Given the description of an element on the screen output the (x, y) to click on. 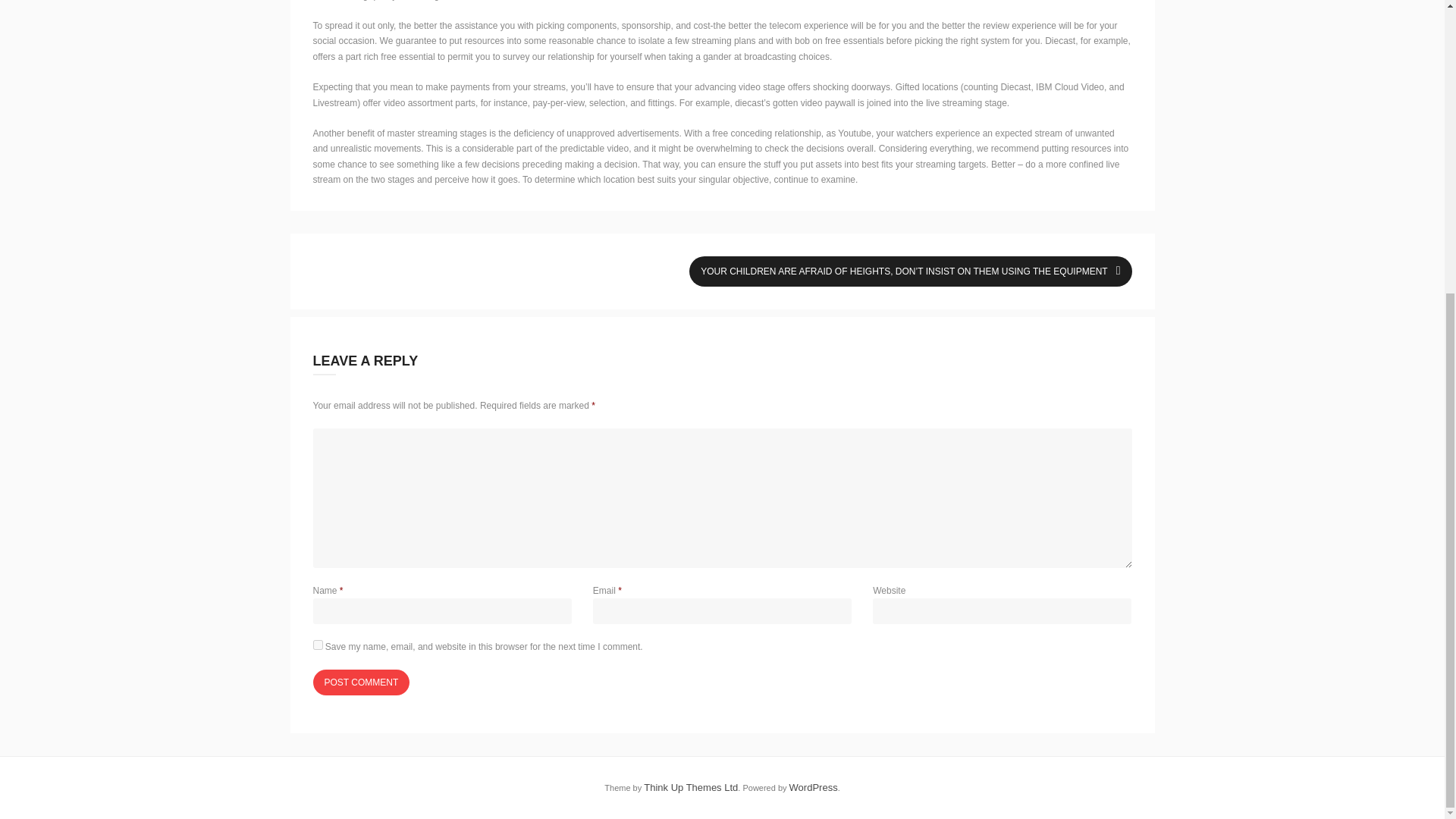
yes (317, 644)
Post Comment (361, 682)
